Given the description of an element on the screen output the (x, y) to click on. 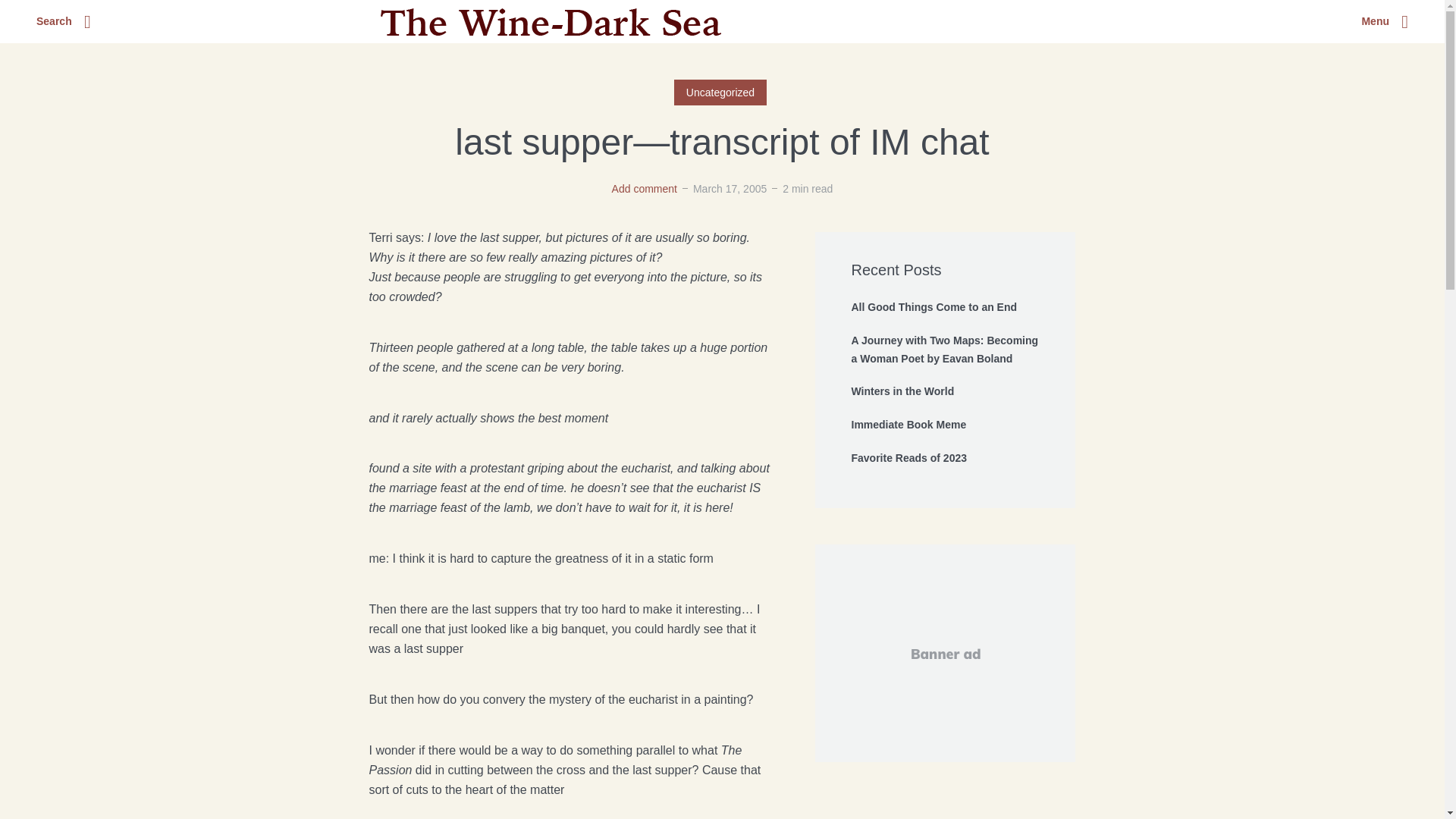
Uncategorized (720, 92)
Add comment (644, 188)
Search (63, 21)
All Good Things Come to an End (944, 307)
Favorite Reads of 2023 (944, 458)
Winters in the World (944, 392)
Immediate Book Meme (944, 425)
Add comment (644, 188)
Menu (1384, 21)
